Given the description of an element on the screen output the (x, y) to click on. 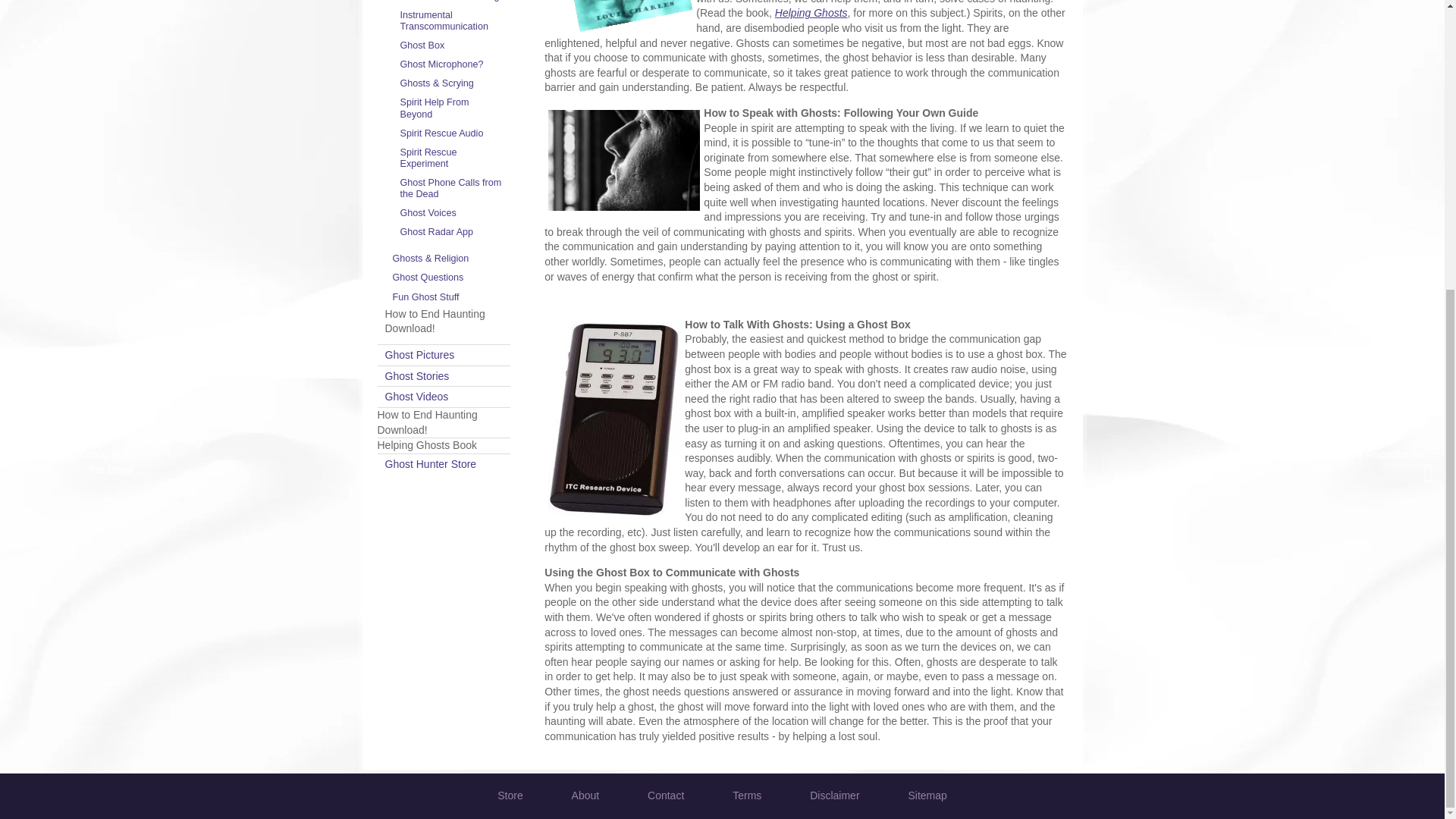
Ghost Radar App (452, 231)
Spirit Rescue Audio (452, 133)
Ghost Voices (452, 212)
Ghost Microphone? (452, 64)
Spirit Help From Beyond (452, 108)
Ghost Phone Calls from the Dead (452, 188)
Spirit Rescue Experiment (452, 158)
Ghosts Communicating (452, 2)
Ghost Box (452, 45)
Instrumental Transcommunication (452, 20)
